Given the description of an element on the screen output the (x, y) to click on. 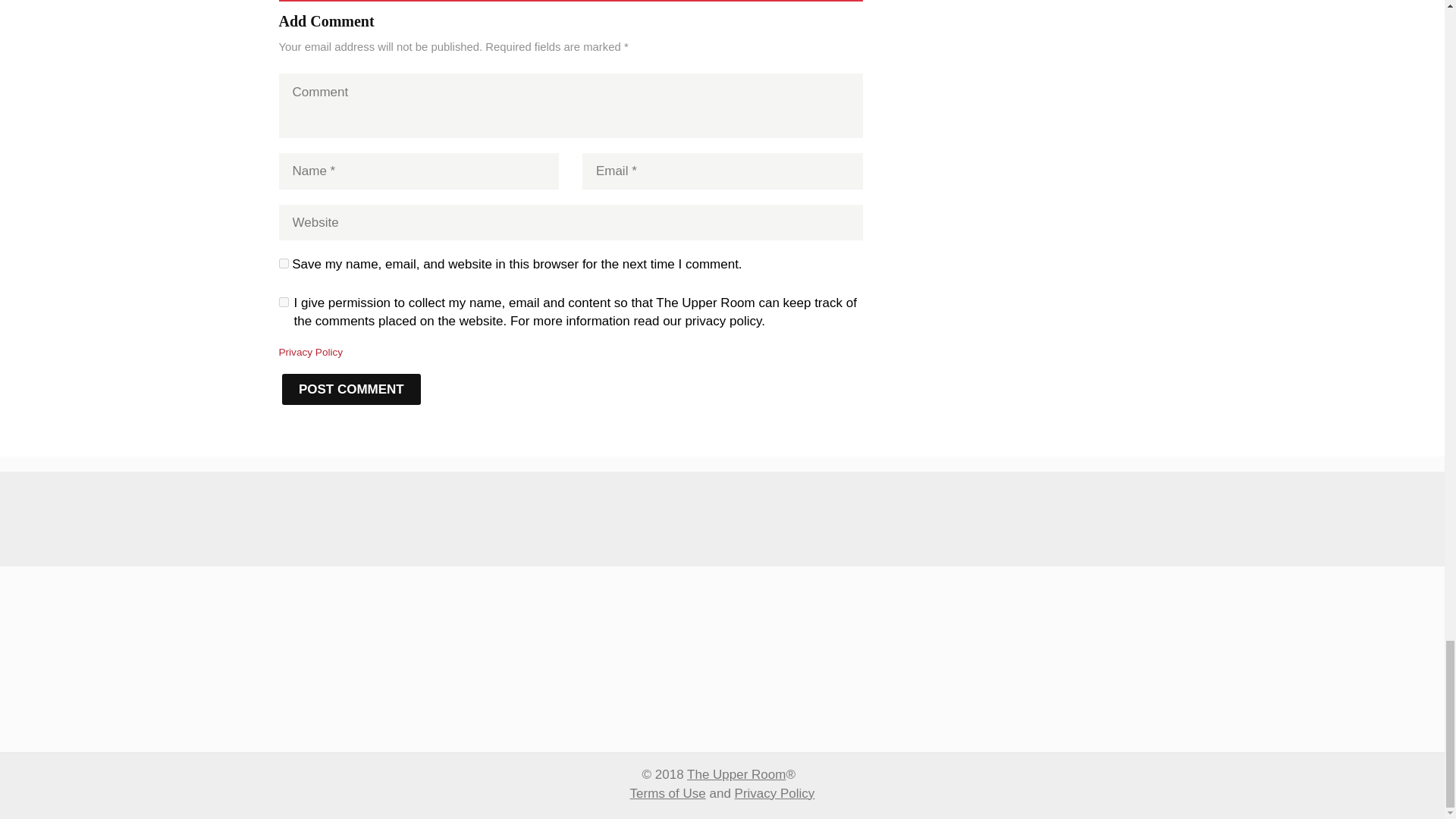
yes (283, 263)
1 (283, 302)
Post Comment (352, 388)
